Given the description of an element on the screen output the (x, y) to click on. 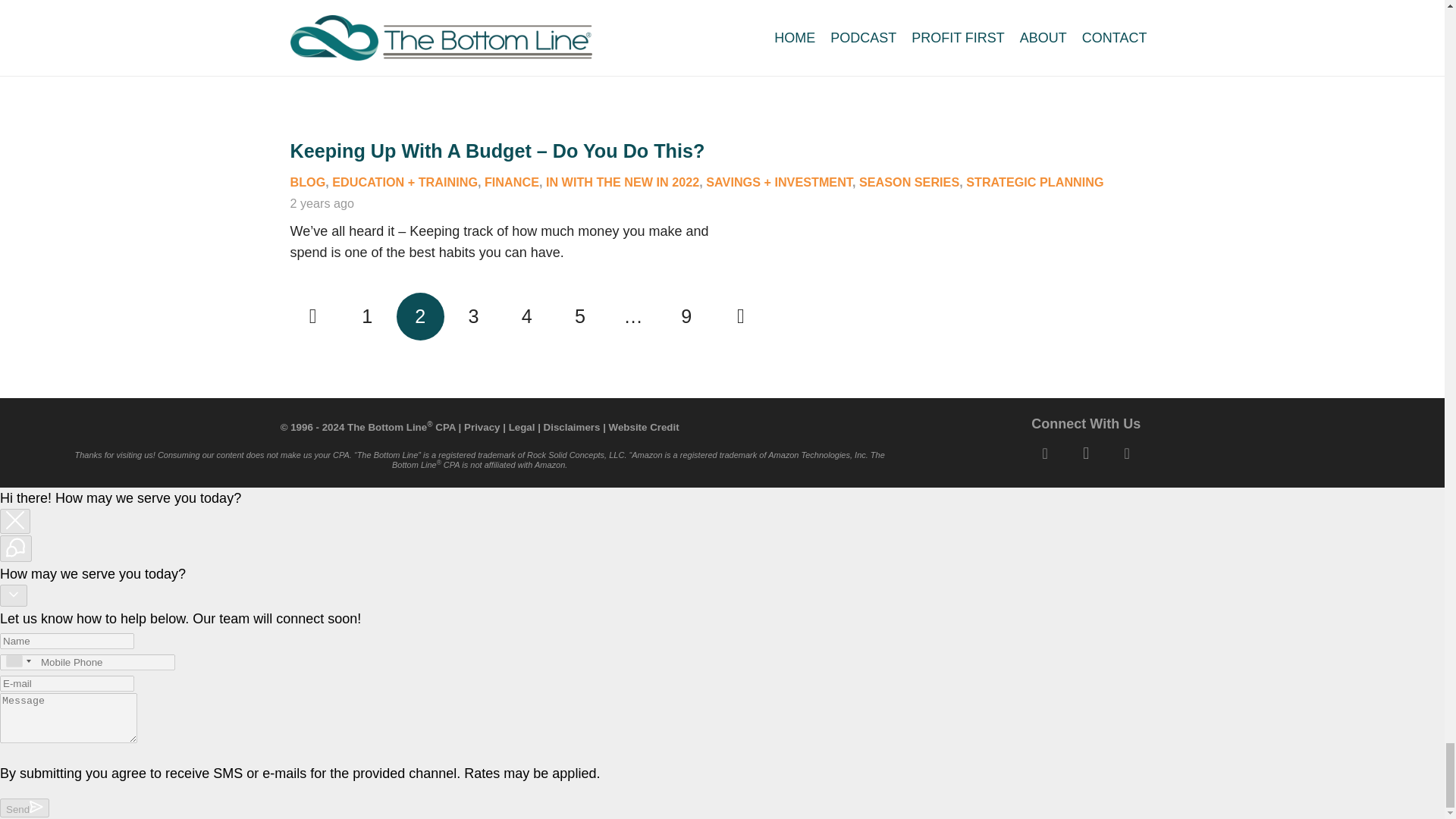
Instagram (1086, 453)
YouTube (1126, 453)
Facebook (1045, 453)
